Given the description of an element on the screen output the (x, y) to click on. 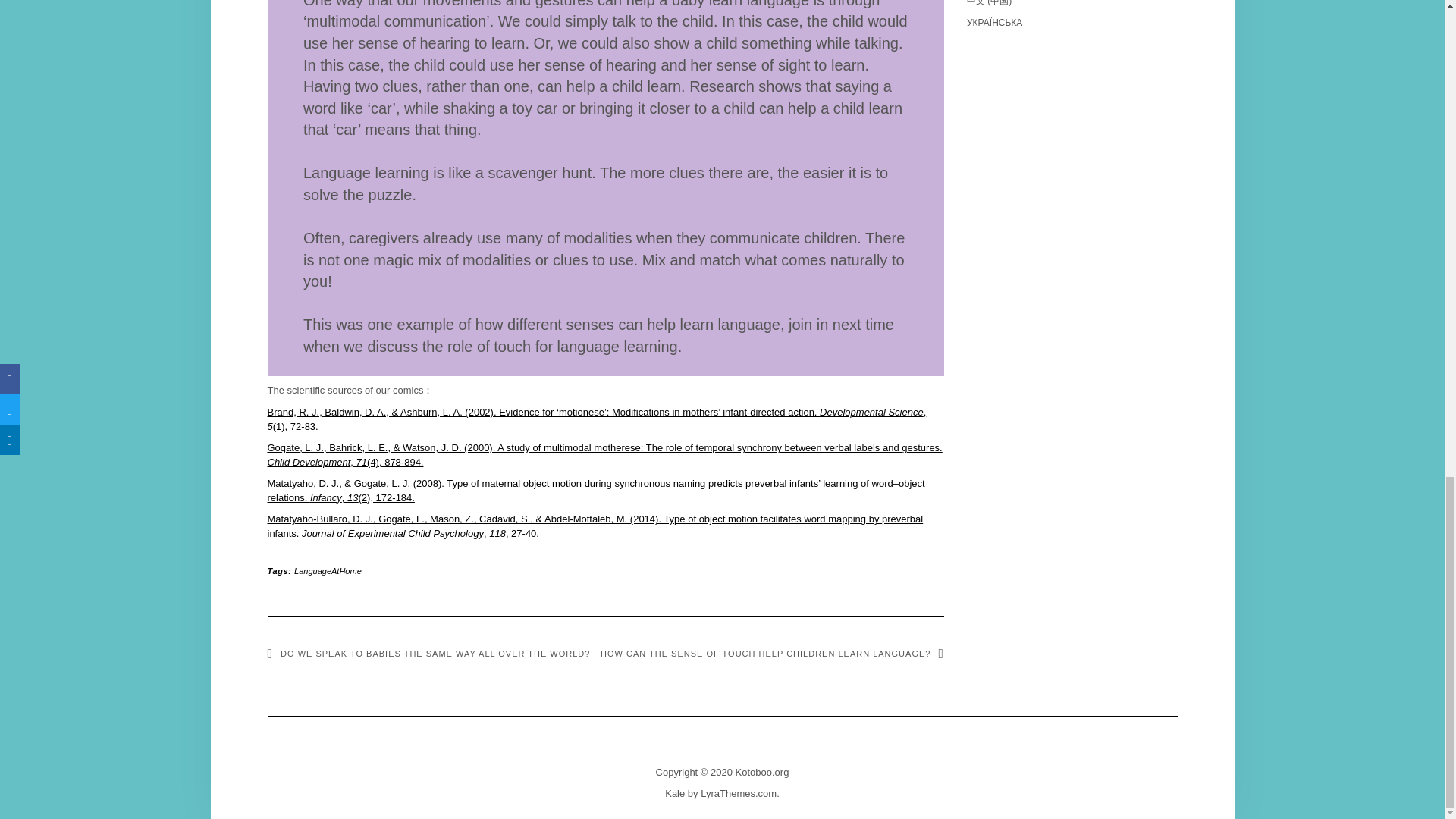
DO WE SPEAK TO BABIES THE SAME WAY ALL OVER THE WORLD? (427, 653)
LanguageAtHome (327, 570)
HOW CAN THE SENSE OF TOUCH HELP CHILDREN LEARN LANGUAGE? (771, 653)
